Given the description of an element on the screen output the (x, y) to click on. 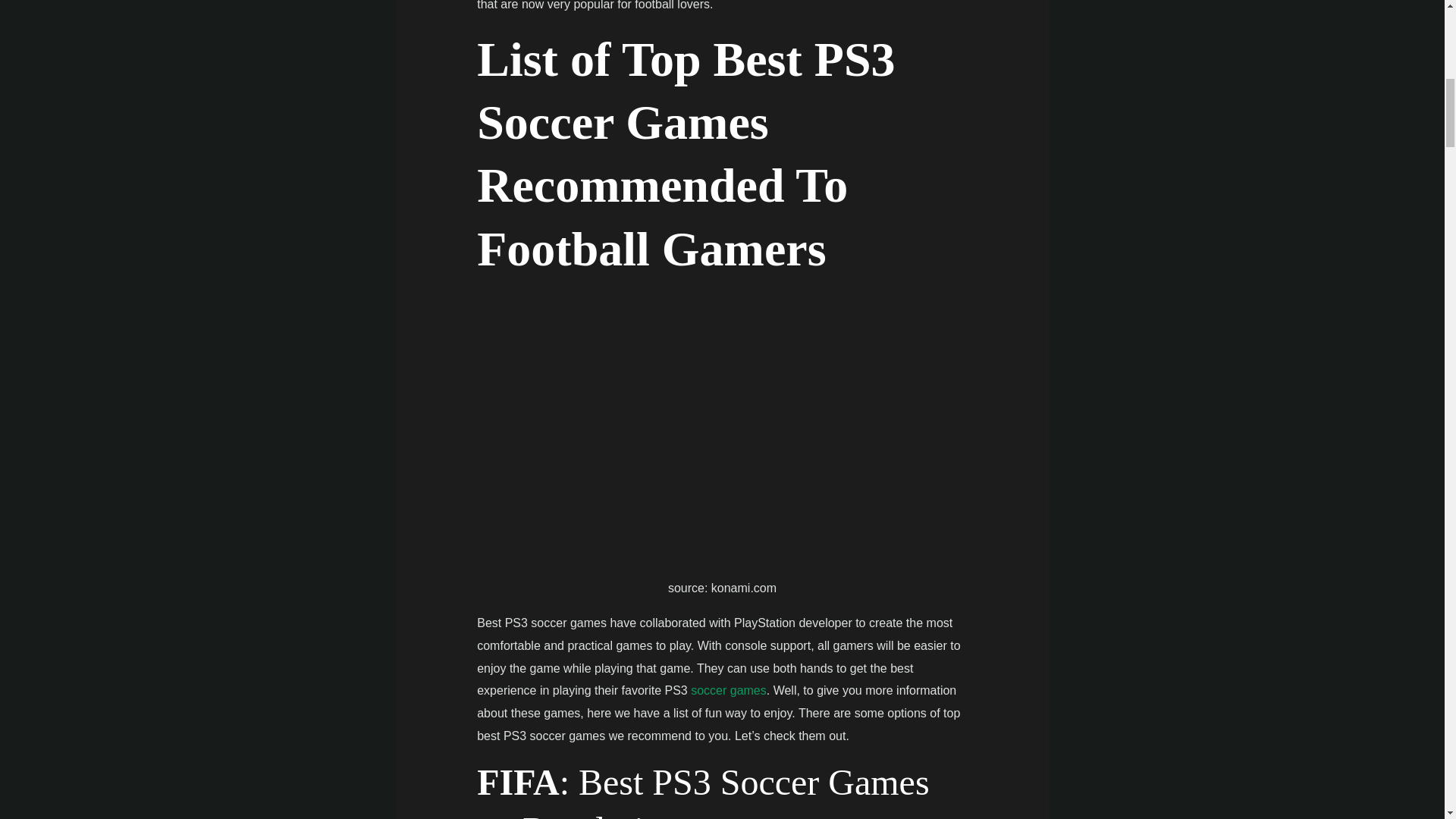
soccer games (728, 689)
